Given the description of an element on the screen output the (x, y) to click on. 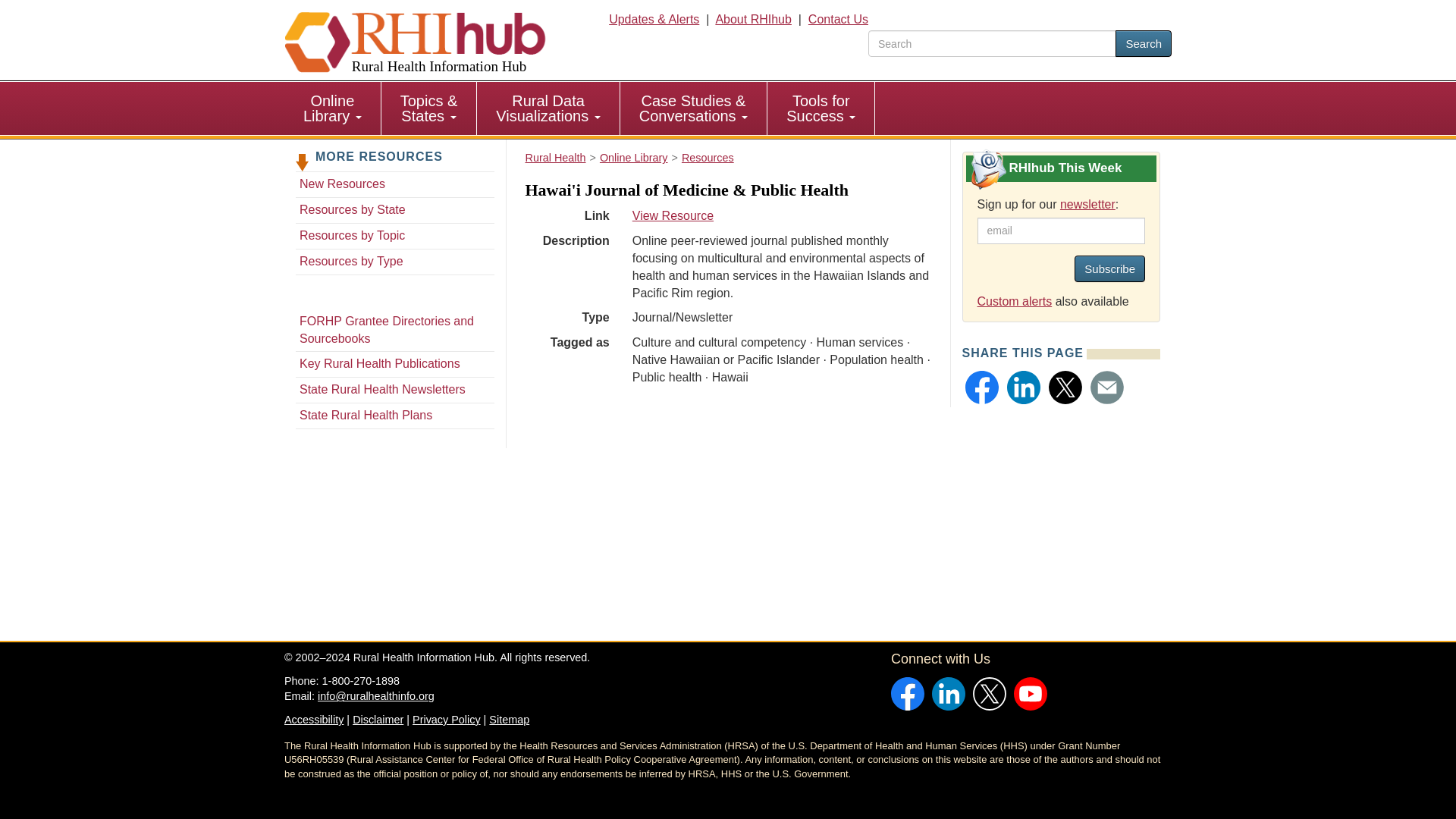
About RHIhub (753, 19)
Contact Us (837, 19)
Search (548, 108)
Resources by State (821, 108)
New Resources (1143, 43)
Resources by Topic (395, 210)
Rural Health Information Hub (395, 184)
